Given the description of an element on the screen output the (x, y) to click on. 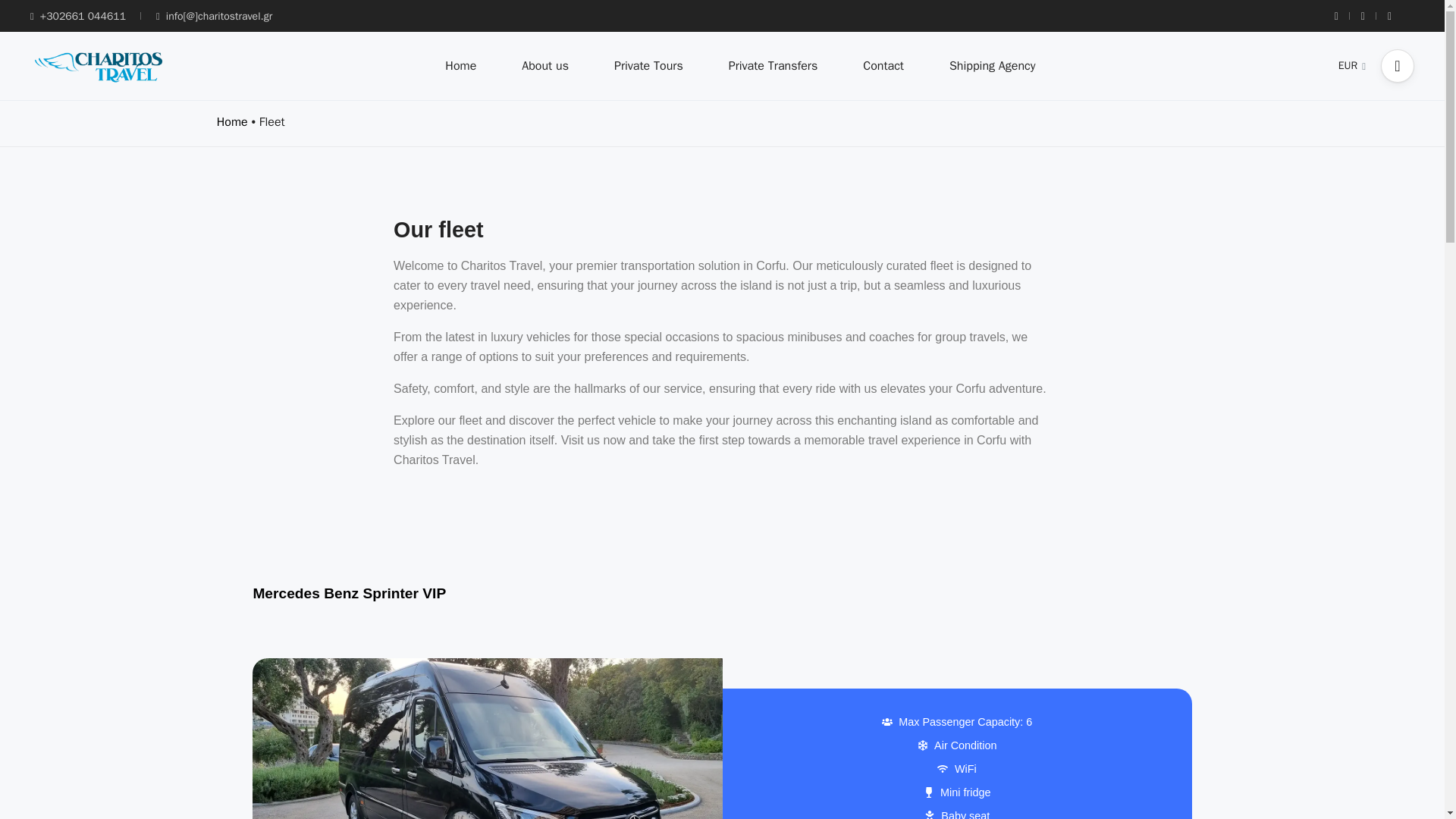
EUR (1351, 65)
Contact (883, 65)
About us (545, 65)
Fleet 1 (486, 738)
Shipping Agency (992, 65)
Home (231, 121)
Private Transfers (773, 65)
Private Tours (648, 65)
Home (460, 65)
